Given the description of an element on the screen output the (x, y) to click on. 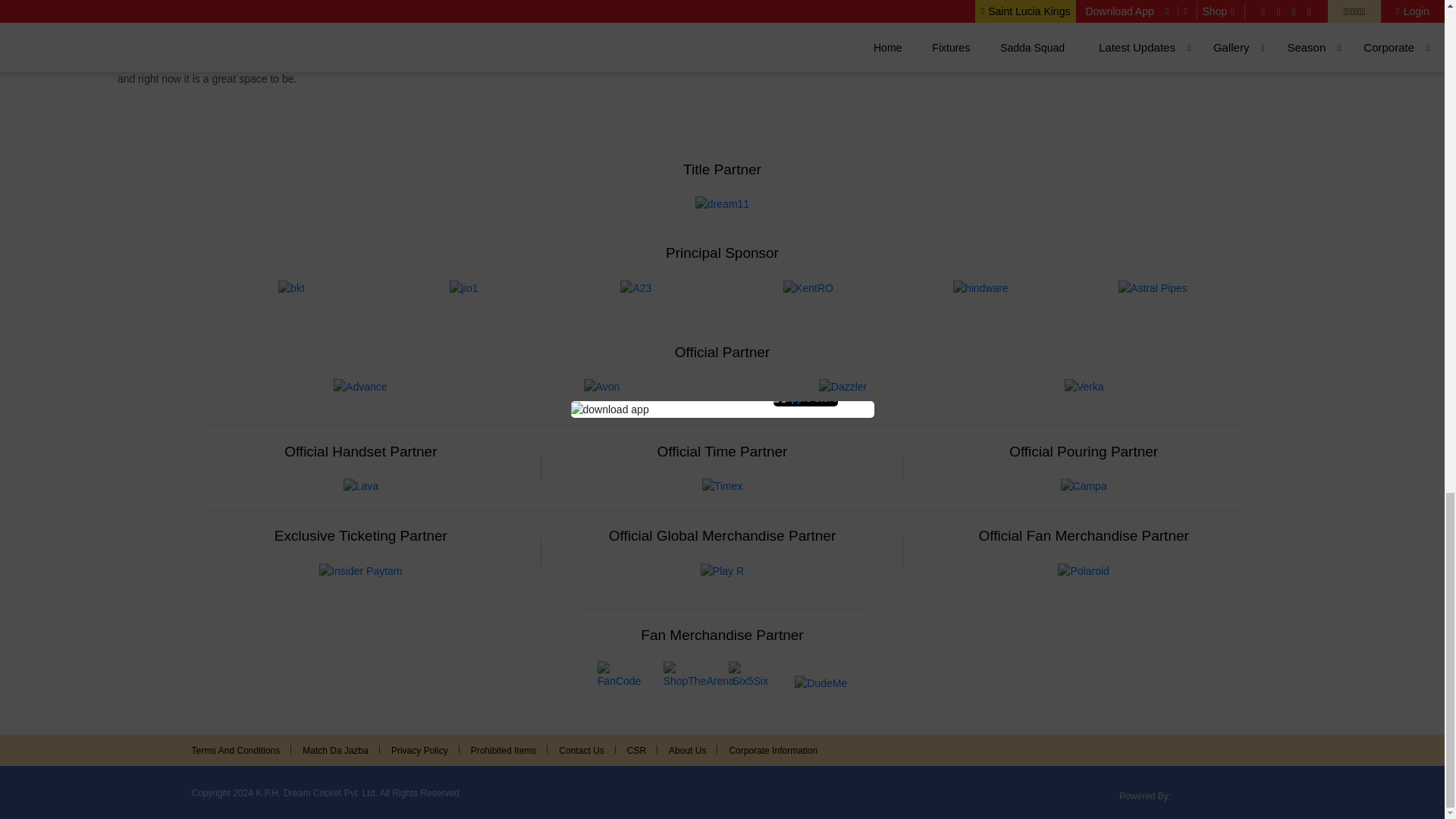
policy (420, 750)
prohibited (504, 750)
tnc (240, 750)
tnc (335, 750)
